Given the description of an element on the screen output the (x, y) to click on. 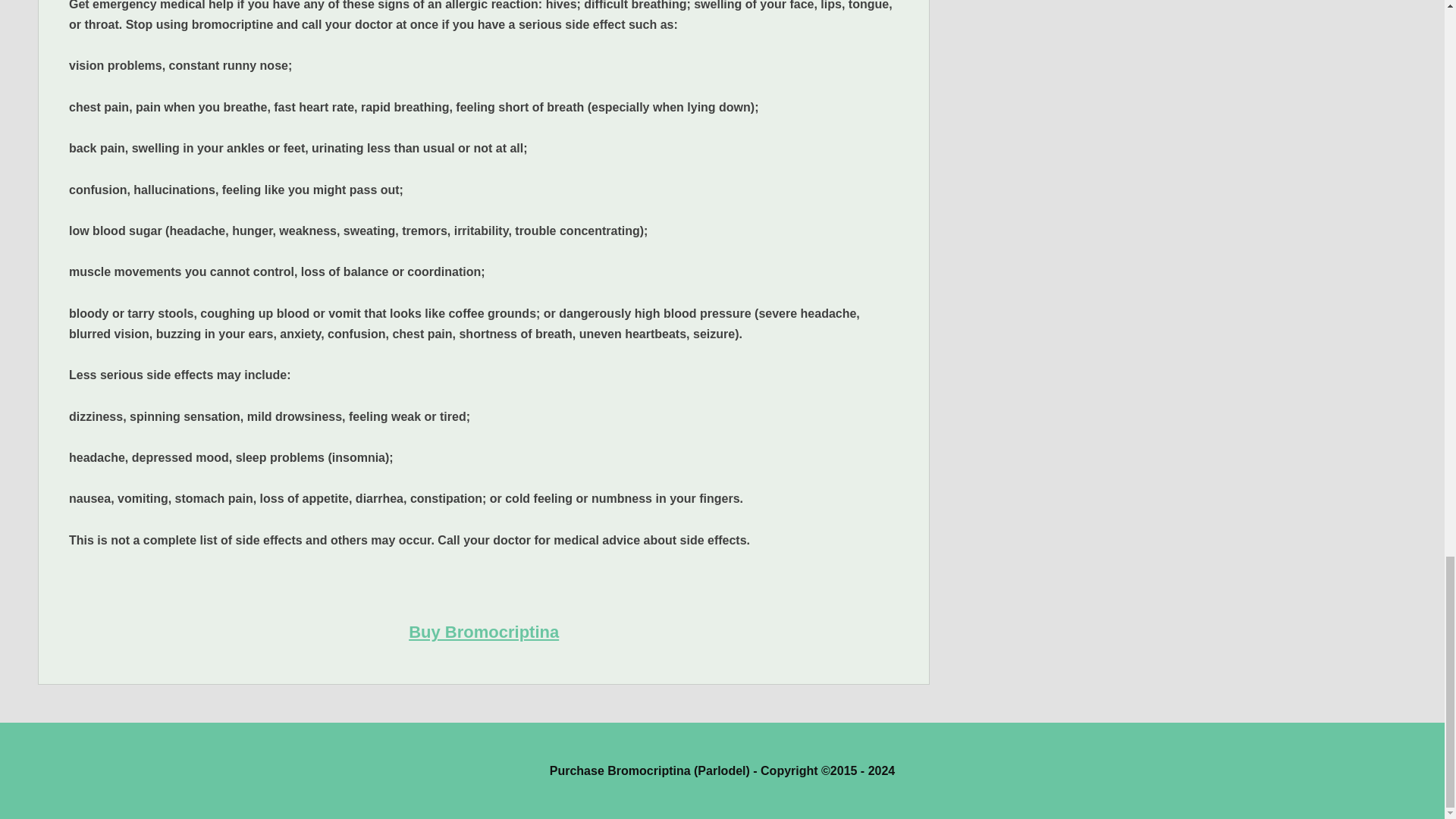
Buy Bromocriptina (484, 631)
Buy Bromocriptina (484, 631)
